Given the description of an element on the screen output the (x, y) to click on. 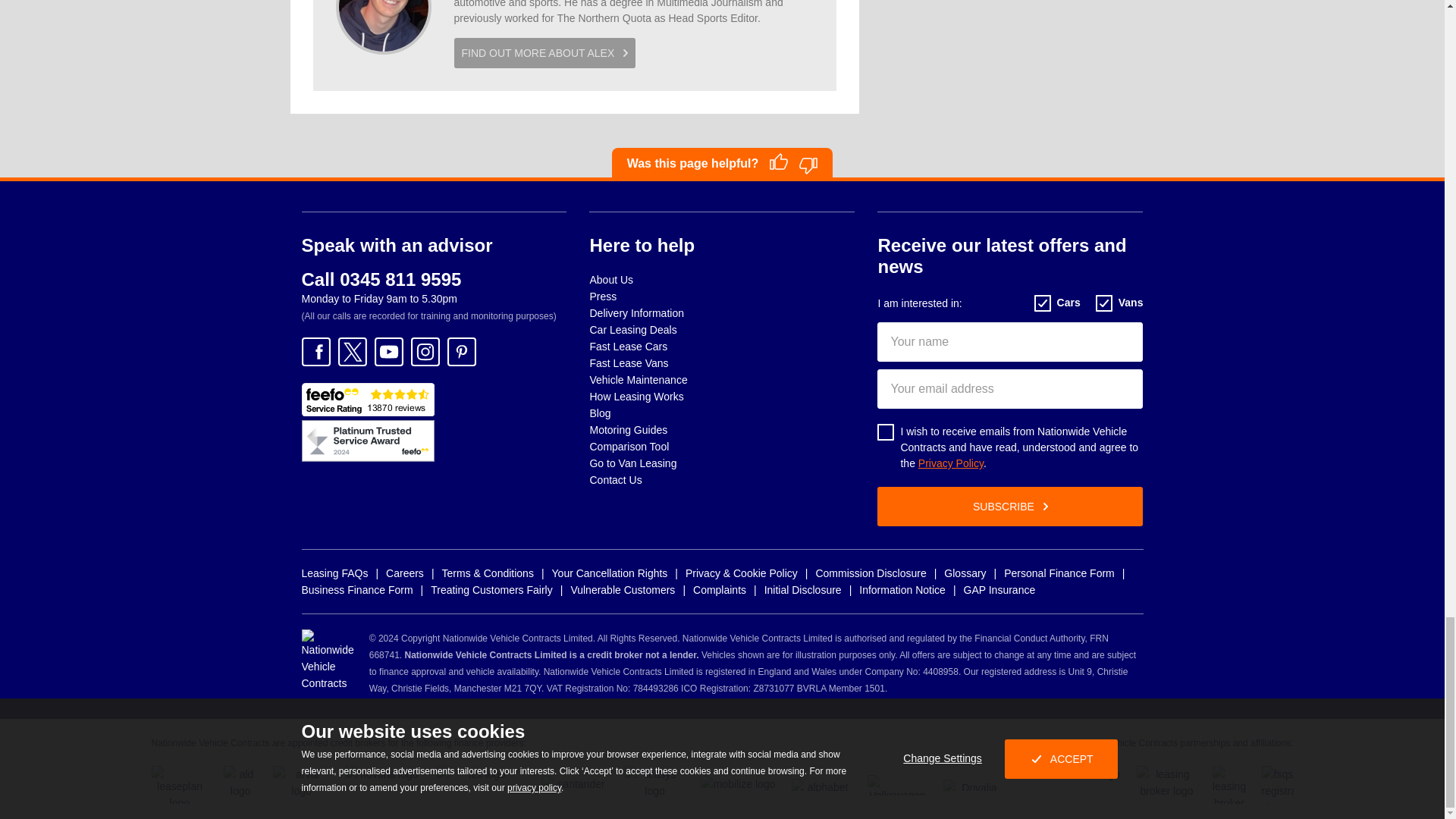
YouTube (388, 351)
Instagram (424, 351)
Facebook (315, 351)
no (807, 166)
Twitter (351, 351)
yes (778, 161)
